Given the description of an element on the screen output the (x, y) to click on. 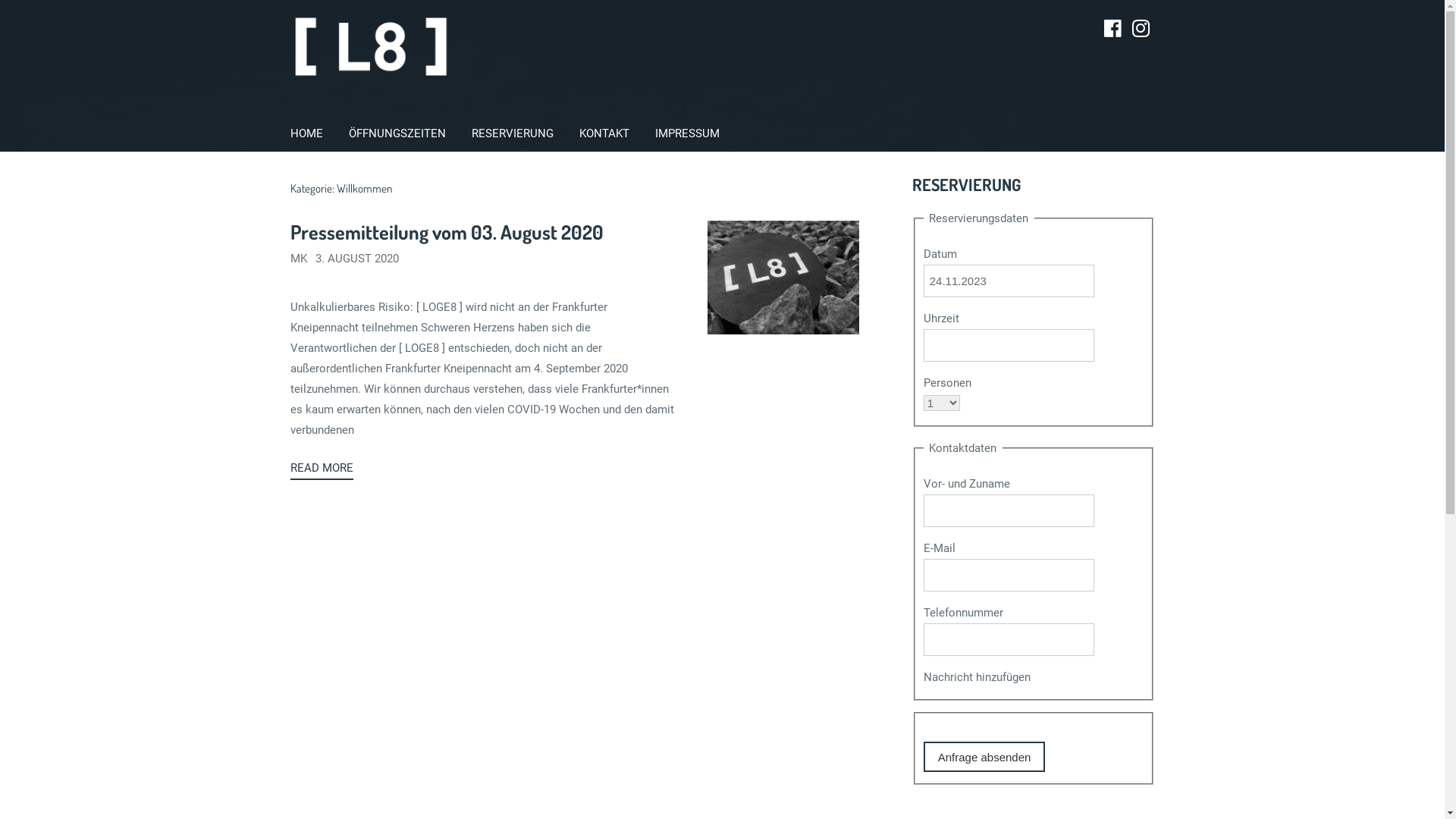
Instagram Element type: hover (1139, 28)
3. AUGUST 2020 Element type: text (356, 258)
READ MORE Element type: text (320, 469)
Anfrage absenden Element type: text (984, 756)
Facebook Element type: hover (1112, 28)
Pressemitteilung vom 03. August 2020 Element type: text (445, 231)
RESERVIERUNG Element type: text (511, 133)
MK Element type: text (297, 258)
HOME Element type: text (306, 133)
IMPRESSUM Element type: text (686, 133)
KONTAKT Element type: text (603, 133)
